Given the description of an element on the screen output the (x, y) to click on. 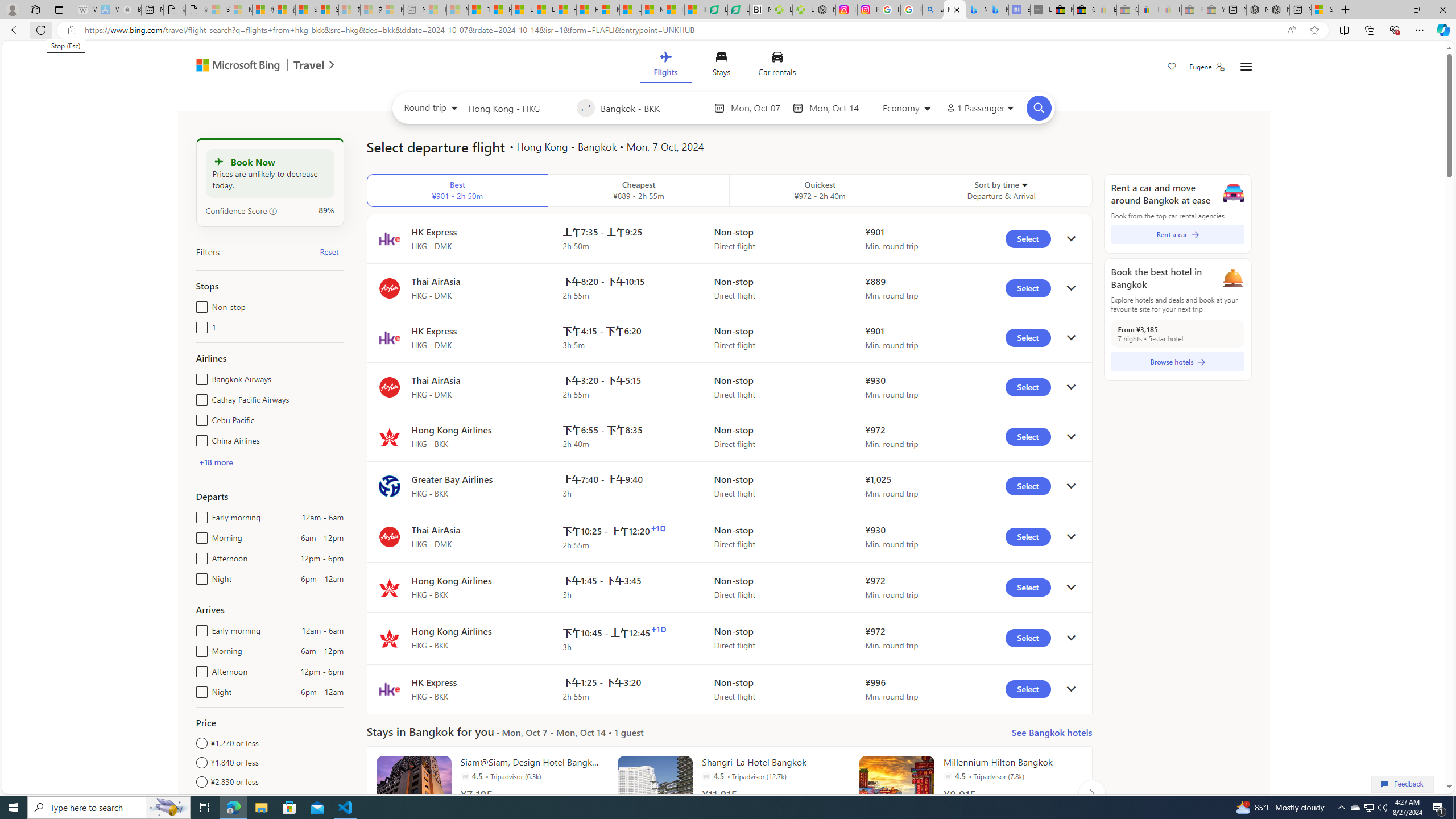
Buy iPad - Apple - Sleeping (130, 9)
Click to scroll right (1091, 792)
Nordace - Nordace Edin Collection (824, 9)
Any price (269, 801)
US Heat Deaths Soared To Record High Last Year (630, 9)
LendingTree - Compare Lenders (738, 9)
Early morning12am - 6am (199, 628)
Search (1038, 107)
+18 more (215, 461)
New tab - Sleeping (413, 9)
